Given the description of an element on the screen output the (x, y) to click on. 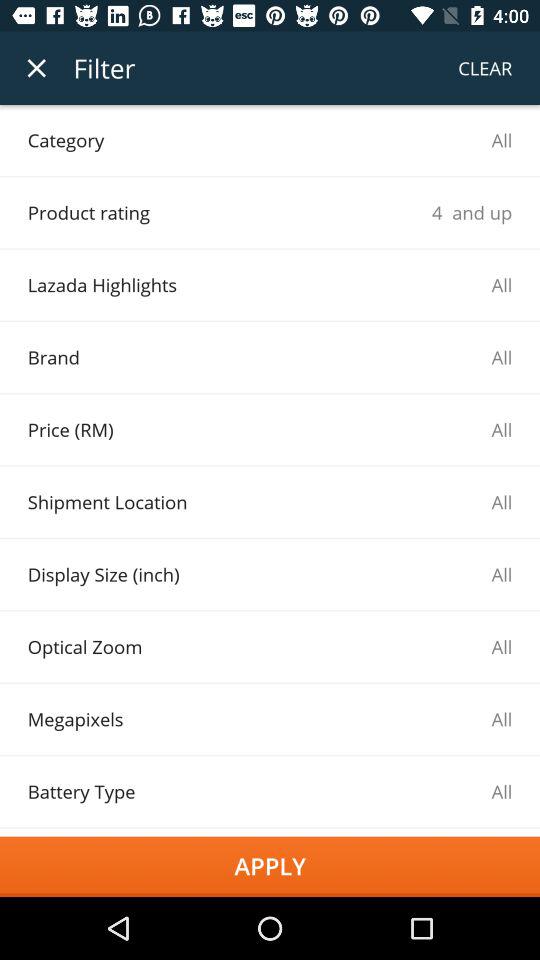
launch the apply icon (270, 866)
